Given the description of an element on the screen output the (x, y) to click on. 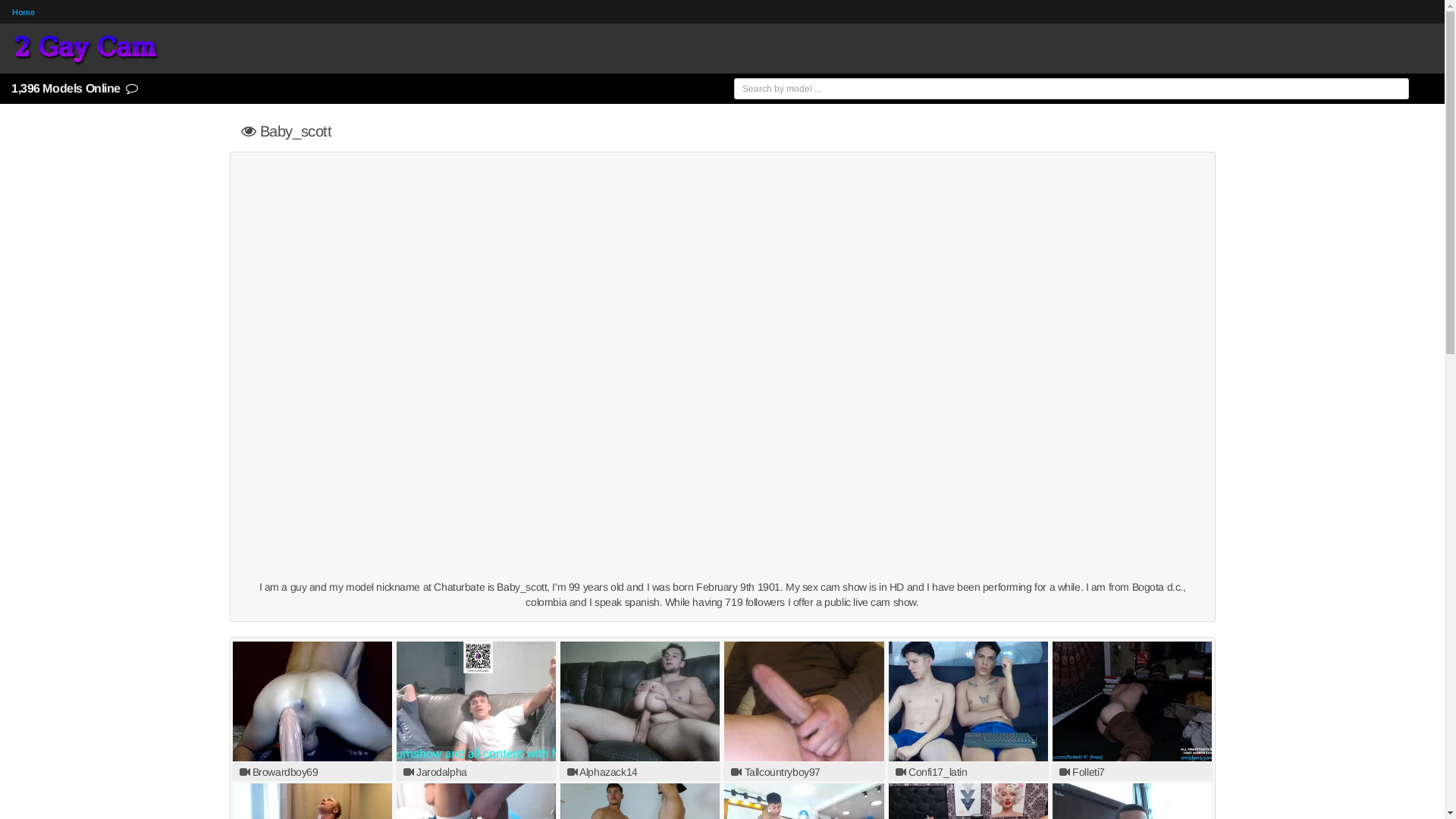
Share this page on twitter Element type: hover (1430, 341)
Share this page on tumblr Element type: hover (1430, 392)
Share this page on googleplus Element type: hover (1430, 444)
Share this page on facebook Element type: hover (1430, 366)
Share this page on pinterest Element type: hover (1430, 418)
Home Element type: text (22, 12)
